Given the description of an element on the screen output the (x, y) to click on. 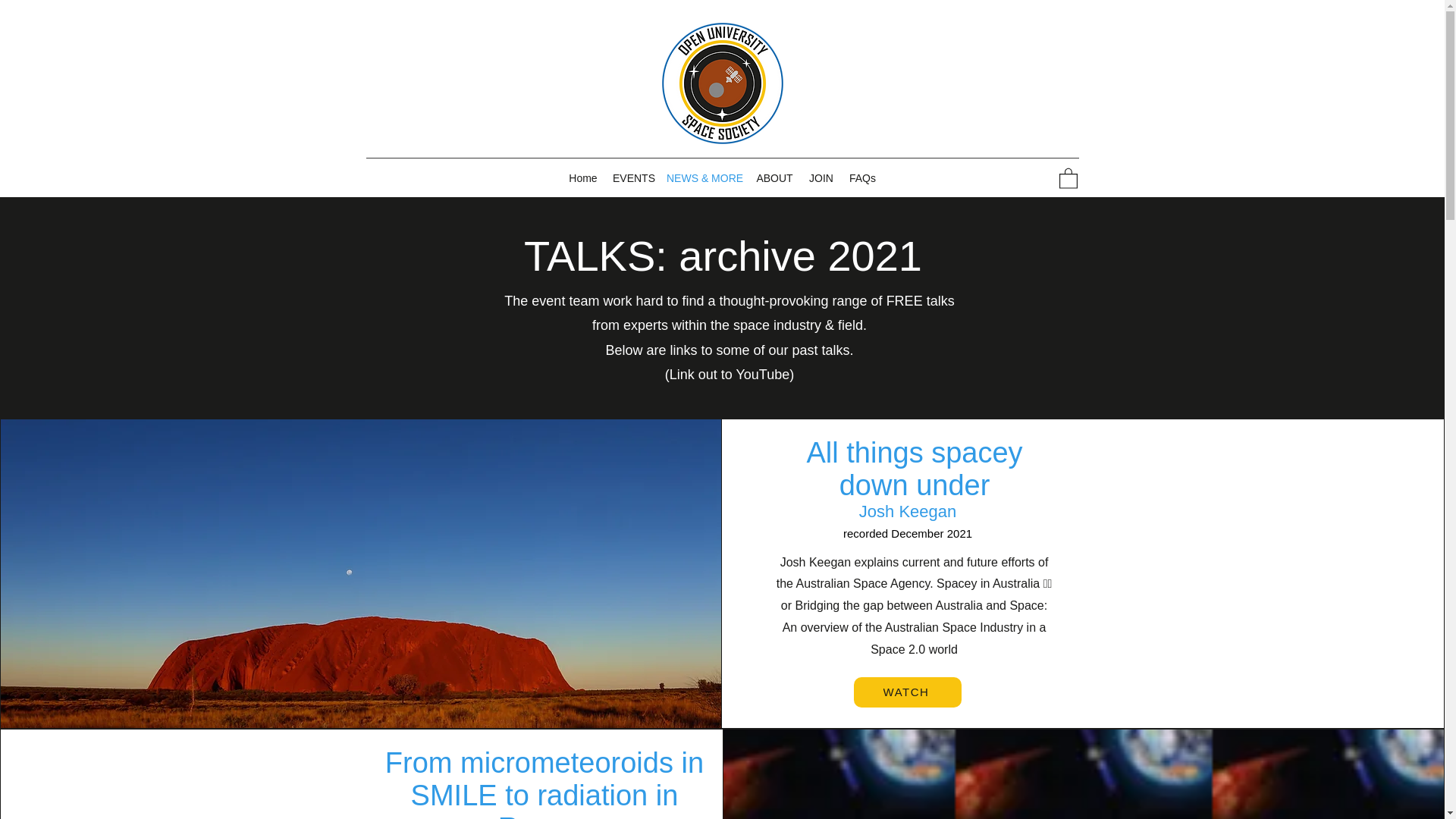
JOIN (820, 178)
Home (582, 178)
WATCH (906, 692)
ABOUT (774, 178)
FAQs (862, 178)
EVENTS (632, 178)
